Given the description of an element on the screen output the (x, y) to click on. 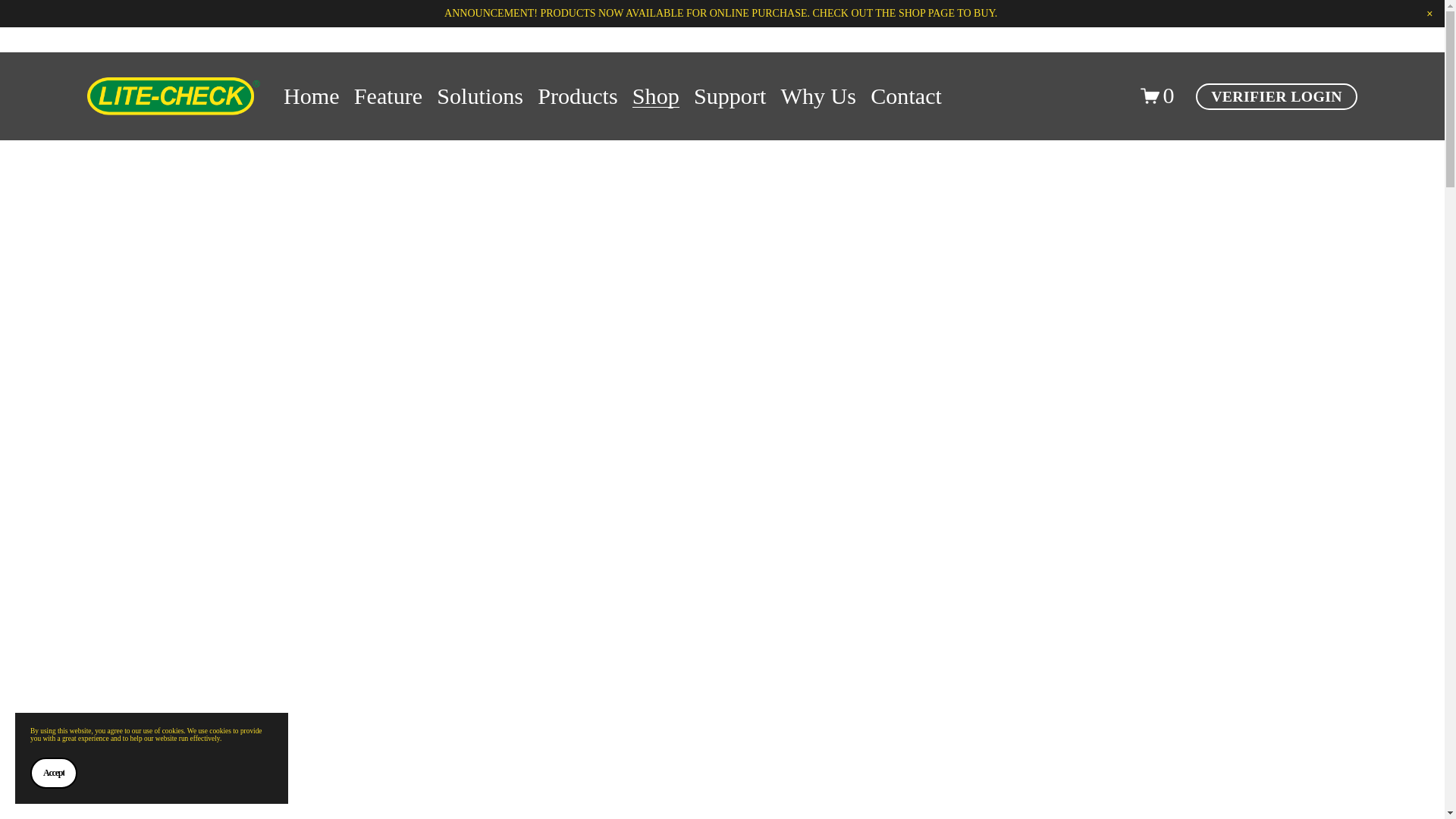
Accept (53, 772)
Feature (387, 95)
Shop (655, 95)
0 (1157, 95)
Products (577, 95)
Support (729, 95)
Solutions (479, 95)
Contact (906, 95)
Why Us (818, 95)
VERIFIER LOGIN (1275, 96)
